Given the description of an element on the screen output the (x, y) to click on. 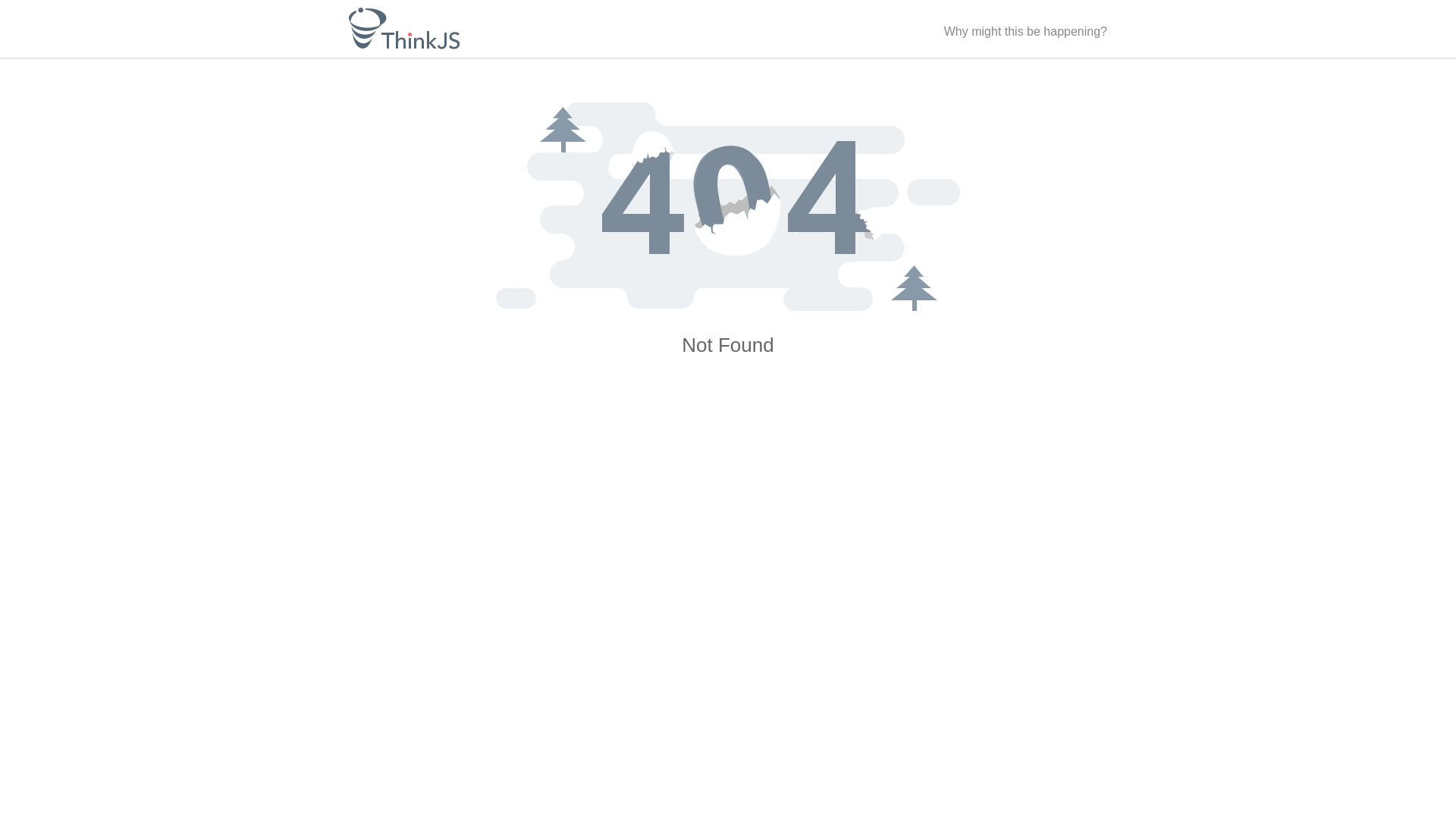
Why might this be happening? Element type: text (1025, 31)
